Given the description of an element on the screen output the (x, y) to click on. 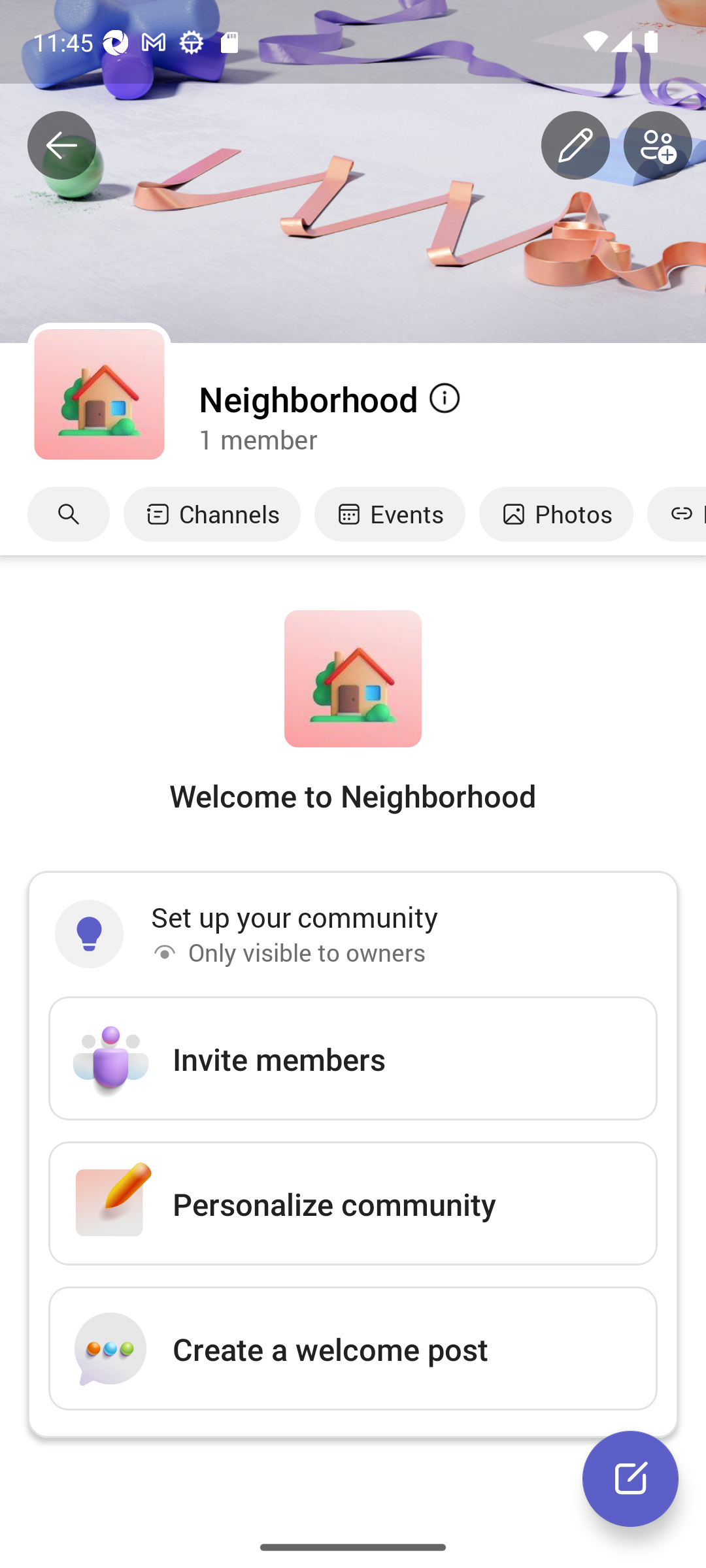
Back (61, 145)
Edit banner image (575, 145)
Add members (657, 145)
Neighborhood 1 member (450, 416)
Search tab, 1 of 6 (68, 513)
Channels tab, 2 of 6 Channels (211, 513)
Events tab, 3 of 6 Events (389, 513)
Photos tab, 4 of 6 Photos (556, 513)
Invite members (352, 1058)
Personalize community (352, 1203)
Create a welcome post (352, 1348)
New conversation (630, 1478)
